Given the description of an element on the screen output the (x, y) to click on. 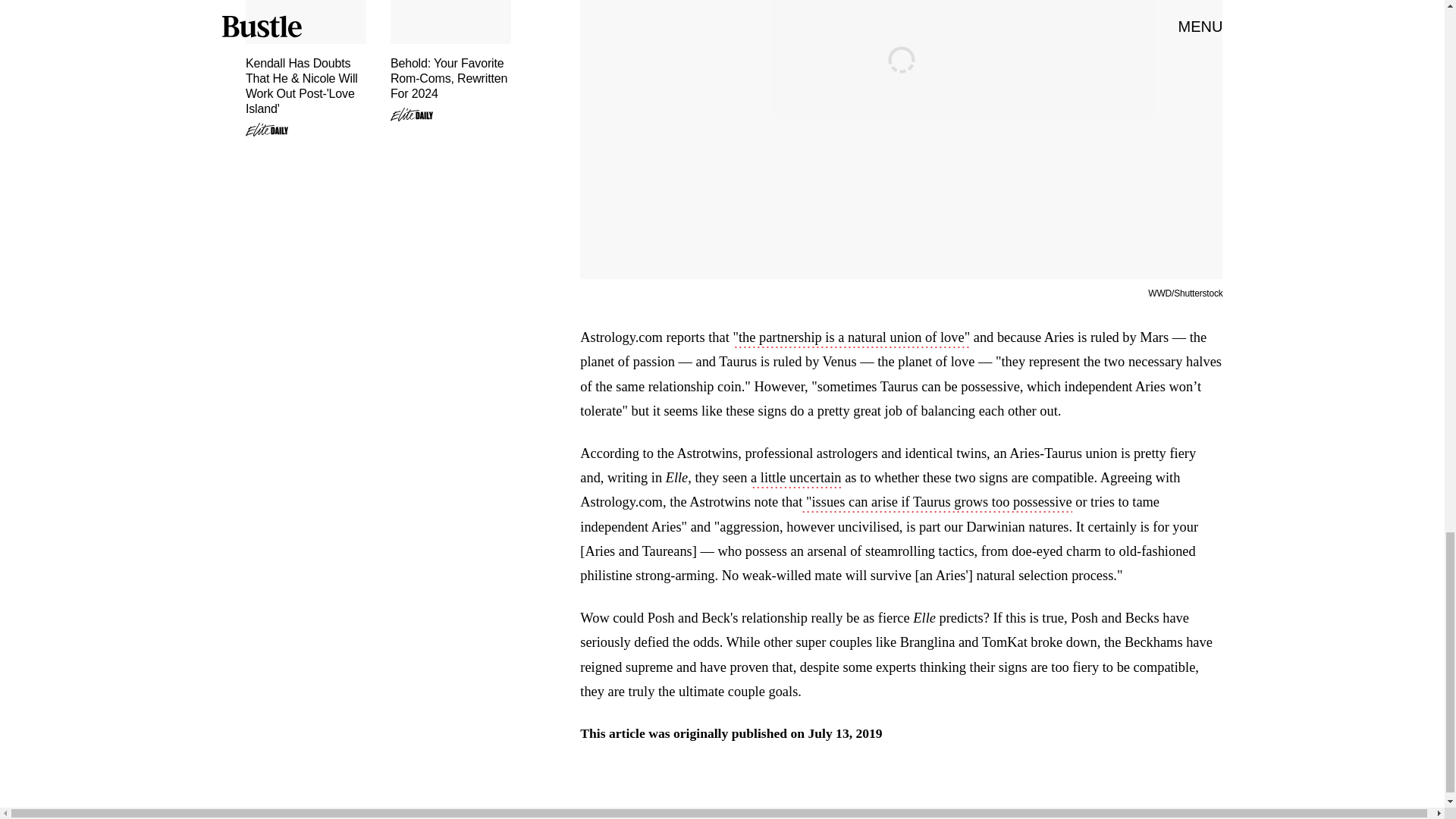
a little uncertain (796, 479)
"issues can arise if Taurus grows too possessive (936, 503)
"the partnership is a natural union of love" (850, 339)
Behold: Your Favorite Rom-Coms, Rewritten For 2024 (450, 60)
